Given the description of an element on the screen output the (x, y) to click on. 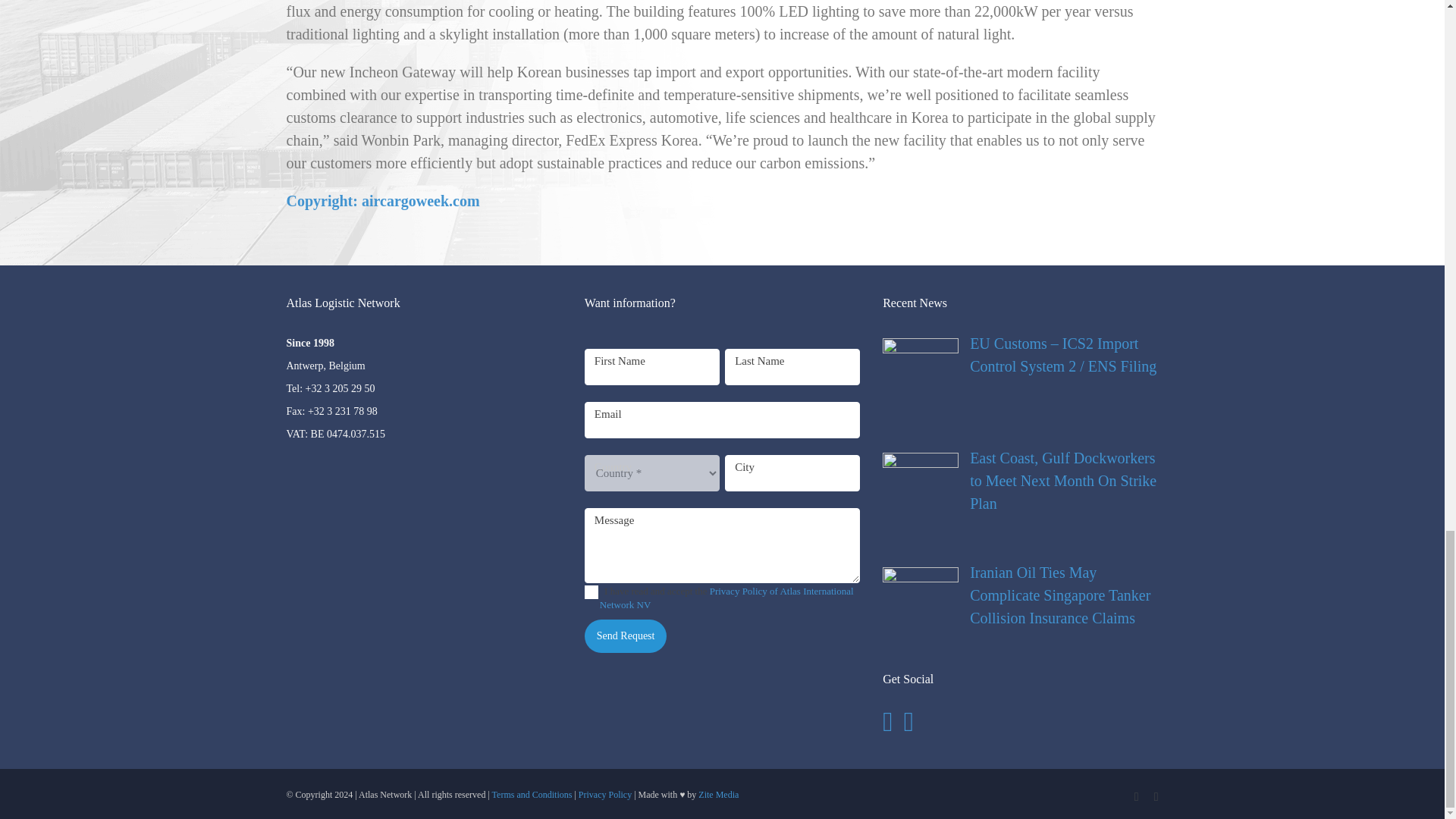
Terms and Conditions (532, 794)
Privacy Policy of Atlas International Network NV (726, 597)
Copyright: aircargoweek.com (383, 200)
Privacy Policy (604, 794)
Zite Media (718, 794)
Send Request (625, 635)
